Given the description of an element on the screen output the (x, y) to click on. 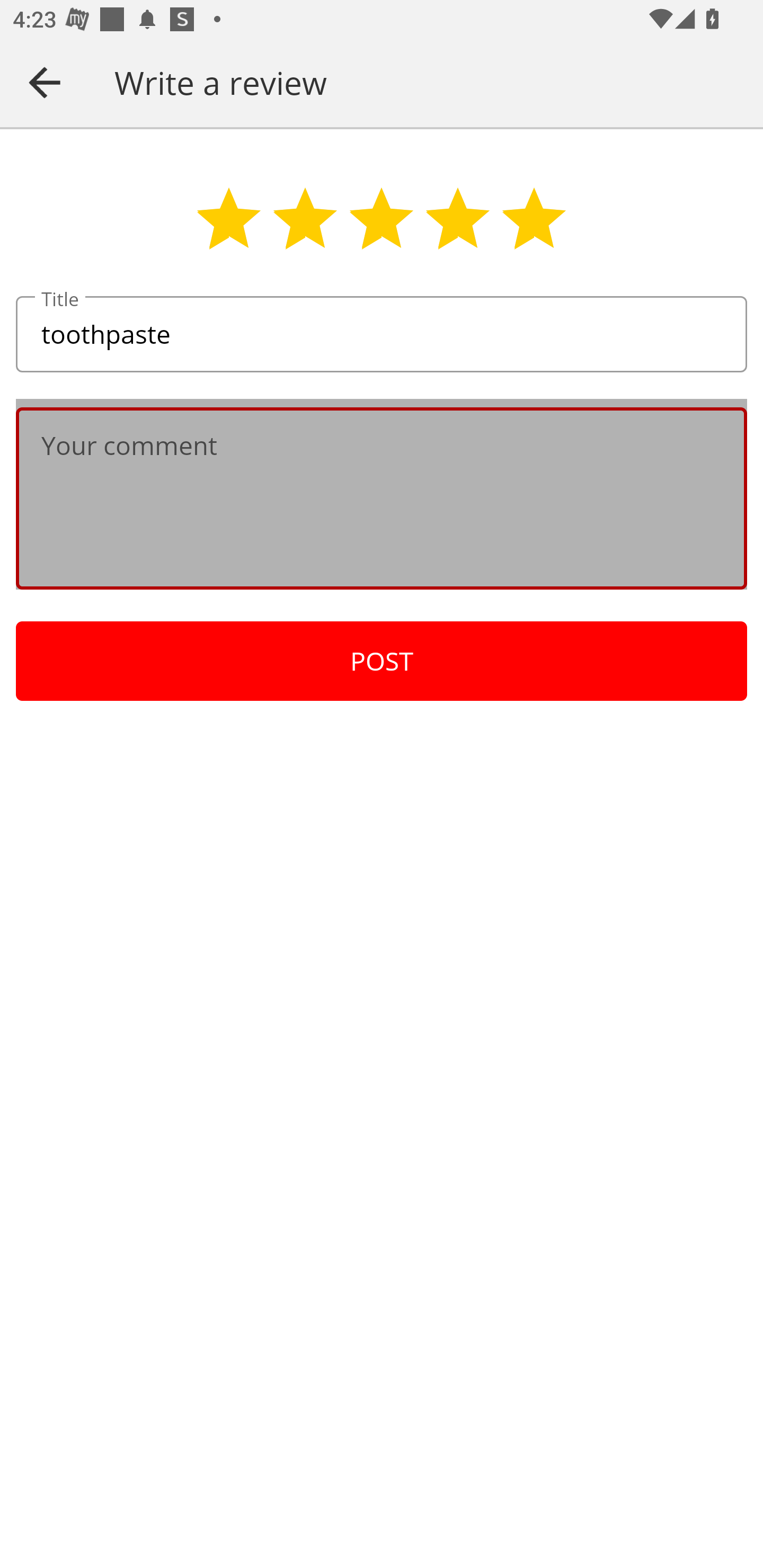
Navigate up (44, 82)
toothpaste (381, 334)
Your comment (381, 498)
POST (381, 660)
